Given the description of an element on the screen output the (x, y) to click on. 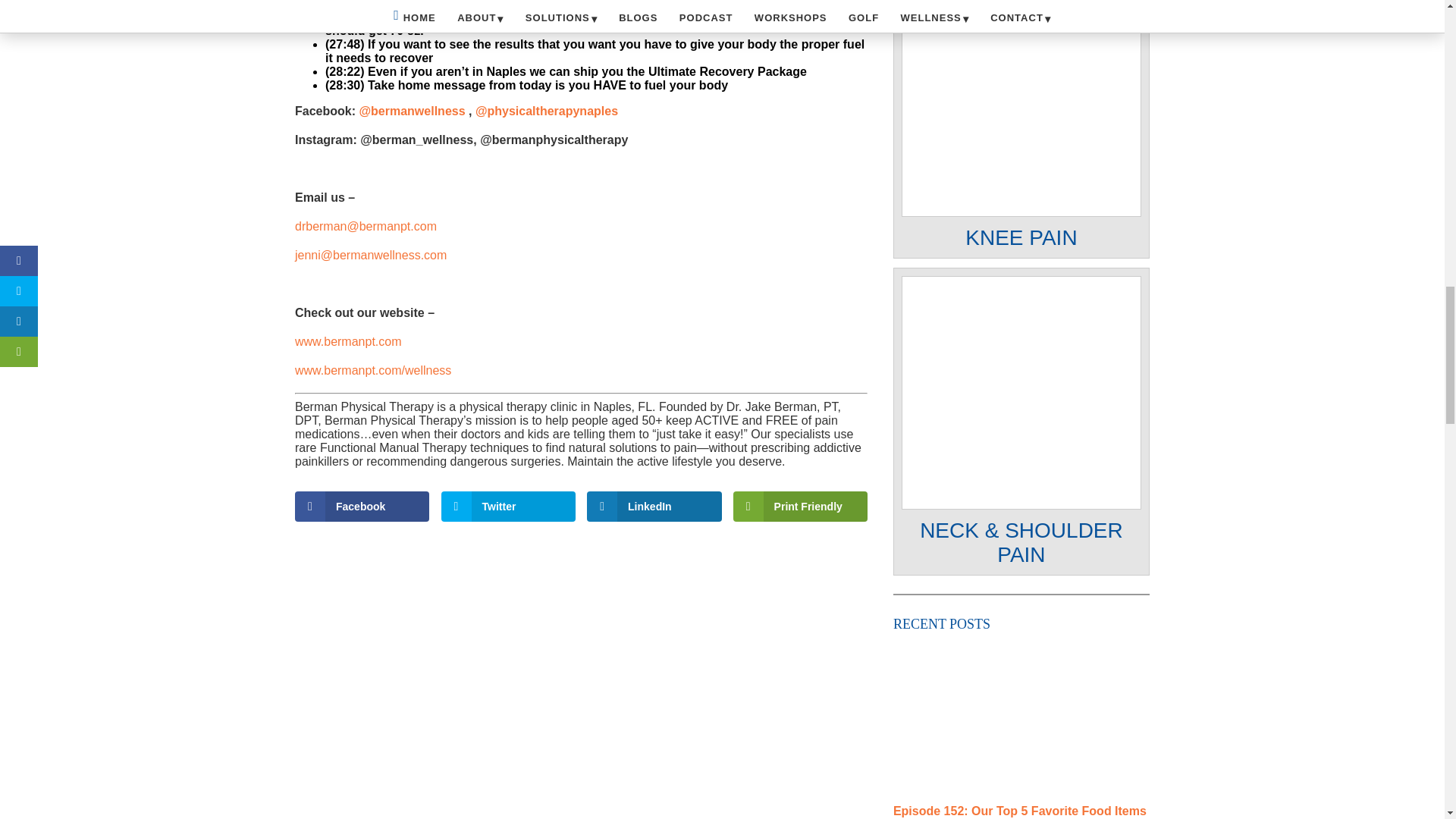
Twitter (508, 506)
Facebook (362, 506)
www.bermanpt.com (348, 341)
